Given the description of an element on the screen output the (x, y) to click on. 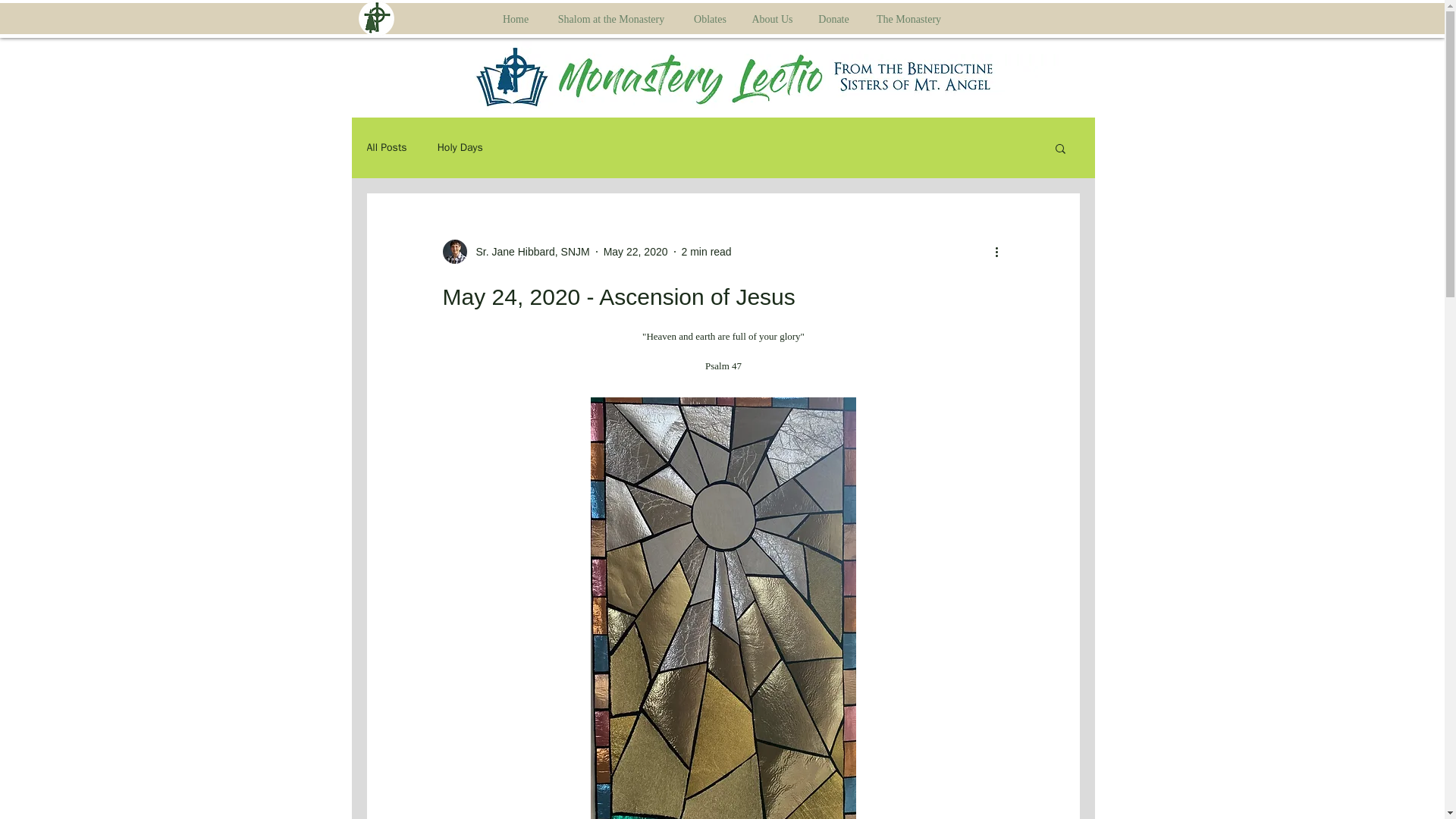
All Posts (386, 147)
Shalom at the Monastery (611, 18)
Donate (833, 18)
Holy Days (460, 147)
The Monastery (908, 18)
Sr. Jane Hibbard, SNJM (515, 251)
May 22, 2020 (636, 251)
About Us (772, 18)
Home (515, 18)
2 min read (706, 251)
Oblates (710, 18)
Sr. Jane Hibbard, SNJM (528, 252)
